Given the description of an element on the screen output the (x, y) to click on. 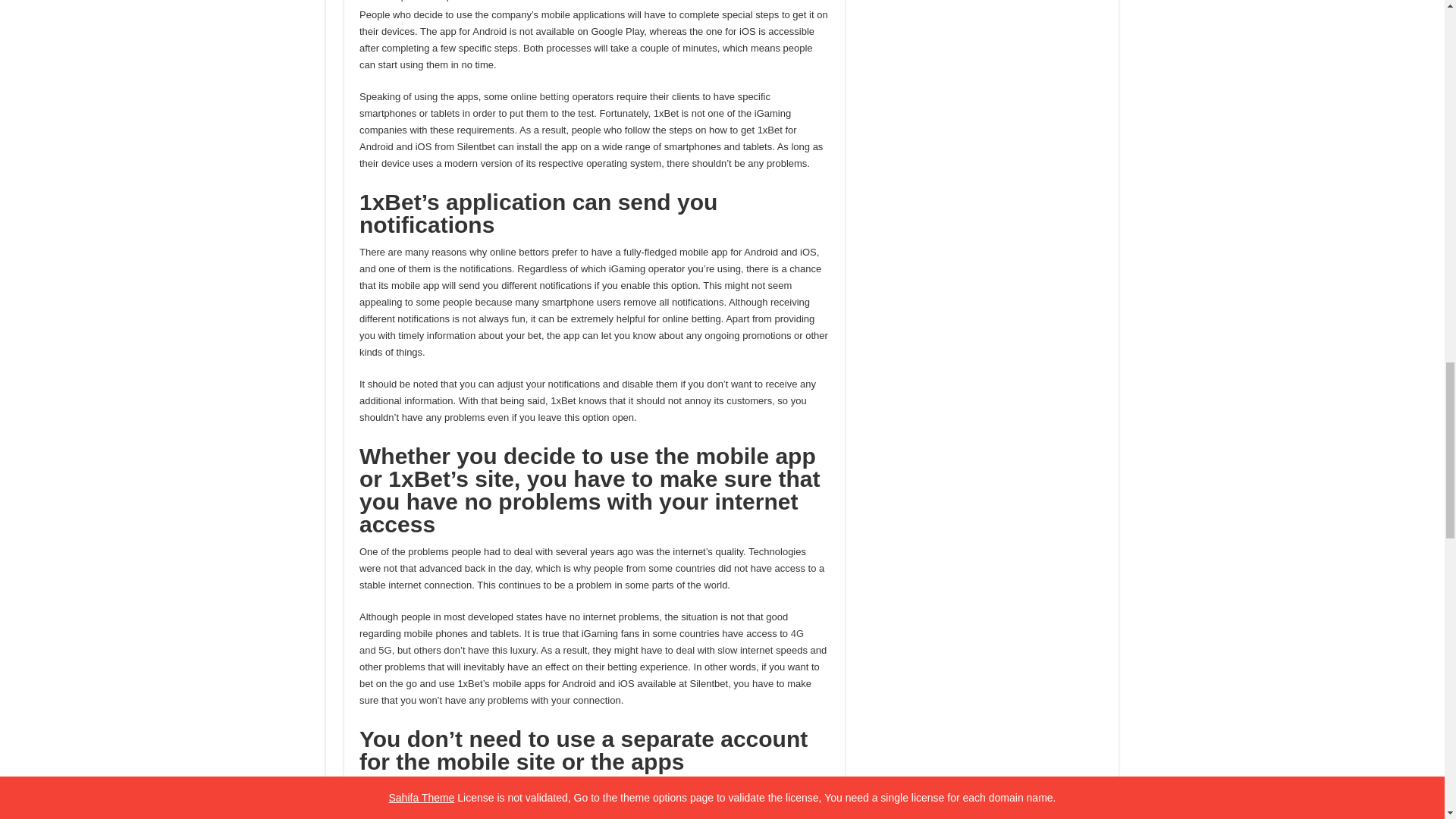
4G and 5G (581, 642)
online betting (540, 96)
